Given the description of an element on the screen output the (x, y) to click on. 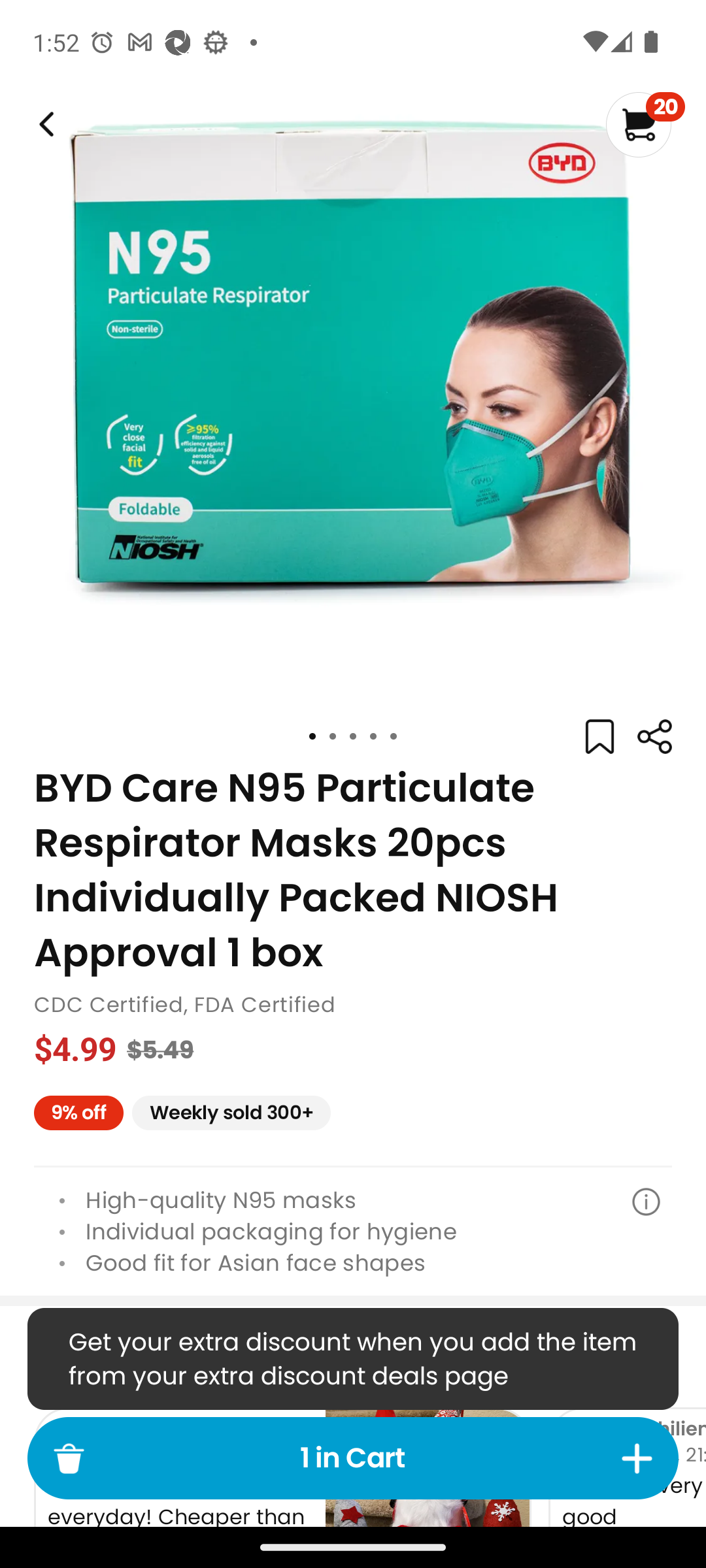
20 (644, 124)
Weee! (45, 124)
Weee! (653, 736)
1 in Cart (352, 1458)
